Given the description of an element on the screen output the (x, y) to click on. 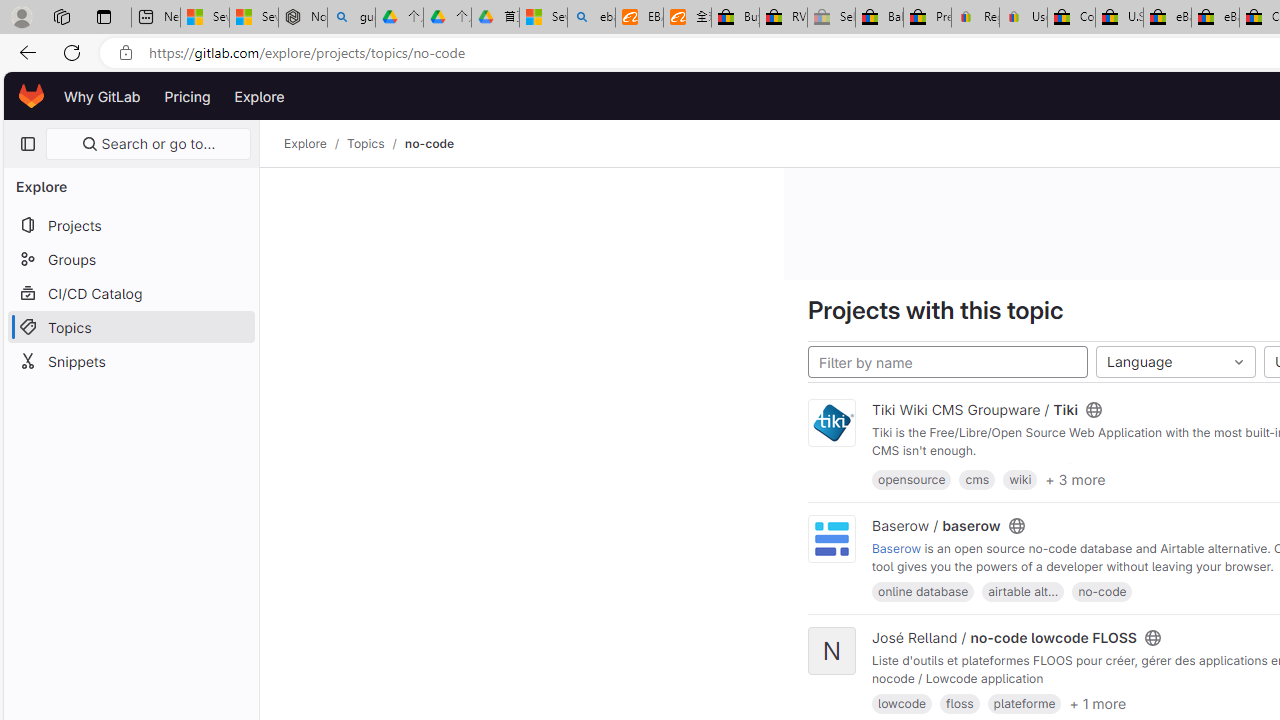
plateforme (1024, 703)
Topics (365, 143)
N (831, 651)
Primary navigation sidebar (27, 143)
airtable alt... (1022, 591)
guge yunpan - Search (351, 17)
U.S. State Privacy Disclosures - eBay Inc. (1119, 17)
Class: project (831, 538)
Groups (130, 259)
Filter by name (947, 362)
